Given the description of an element on the screen output the (x, y) to click on. 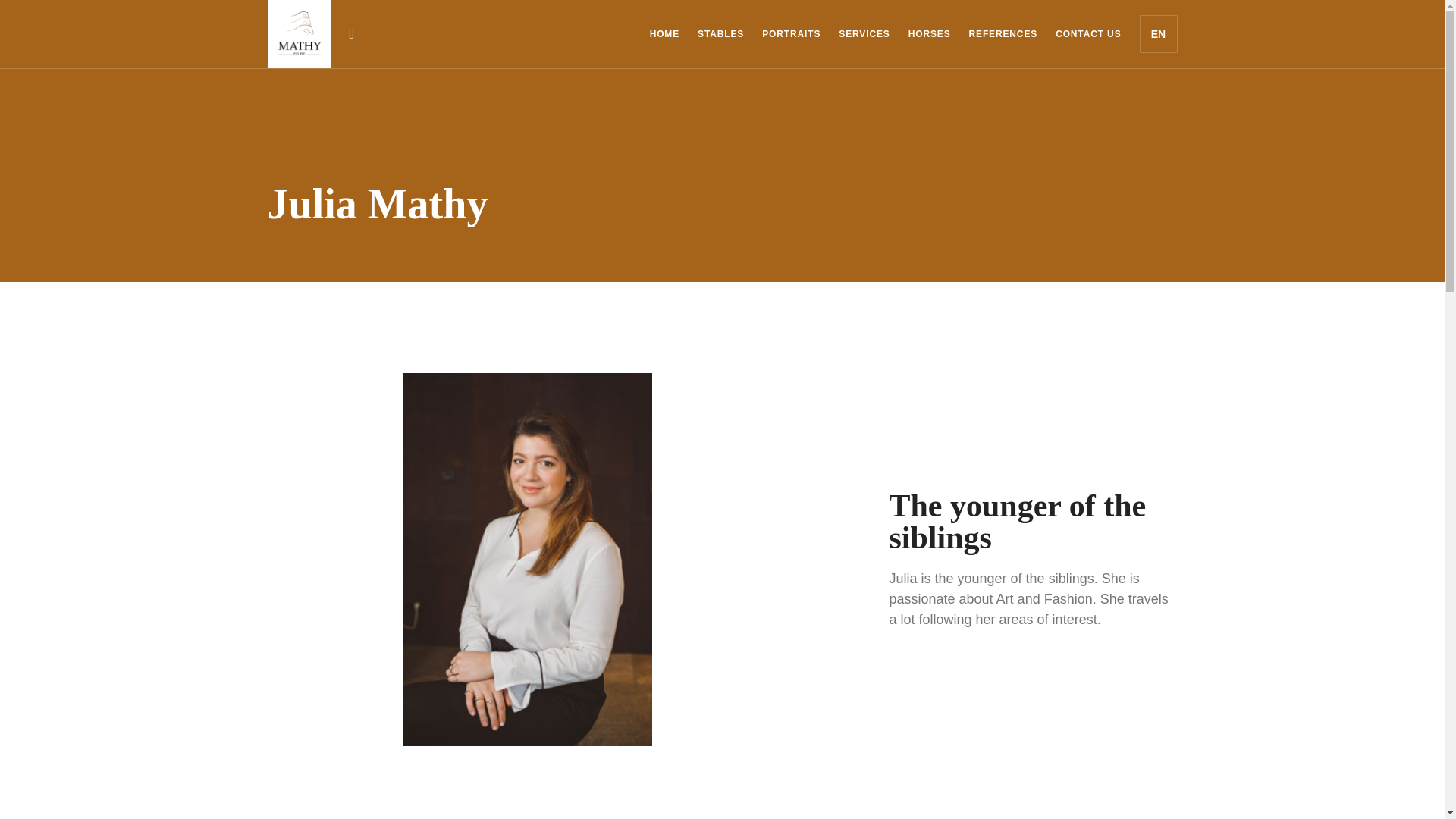
STABLES (720, 34)
CONTACT US (1088, 34)
REFERENCES (1003, 34)
SERVICES (863, 34)
English (1158, 34)
HORSES (929, 34)
PORTRAITS (791, 34)
SNACK::GENERAL.LANG (1158, 34)
Return to the home page (298, 33)
